Given the description of an element on the screen output the (x, y) to click on. 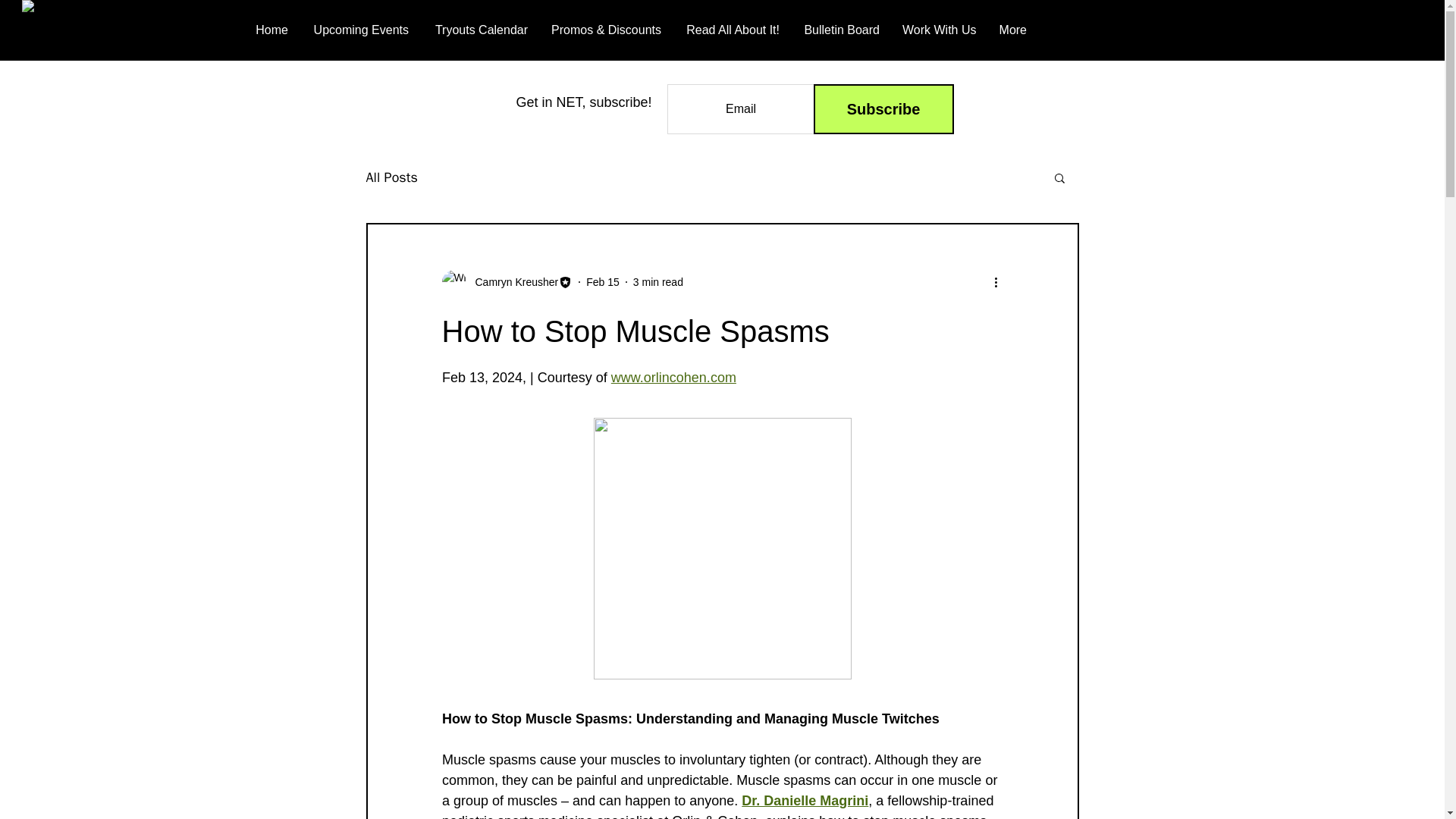
Camryn Kreusher (506, 282)
Bulletin Board (840, 30)
Read All About It! (731, 30)
Camryn Kreusher (511, 282)
Subscribe (882, 109)
Upcoming Events (359, 30)
www.orlincohen.com (672, 377)
Home (271, 30)
All Posts (390, 177)
Feb 15 (603, 282)
Work With Us (939, 30)
Dr. Danielle Magrini (804, 800)
3 min read (657, 282)
Tryouts Calendar (479, 30)
